Given the description of an element on the screen output the (x, y) to click on. 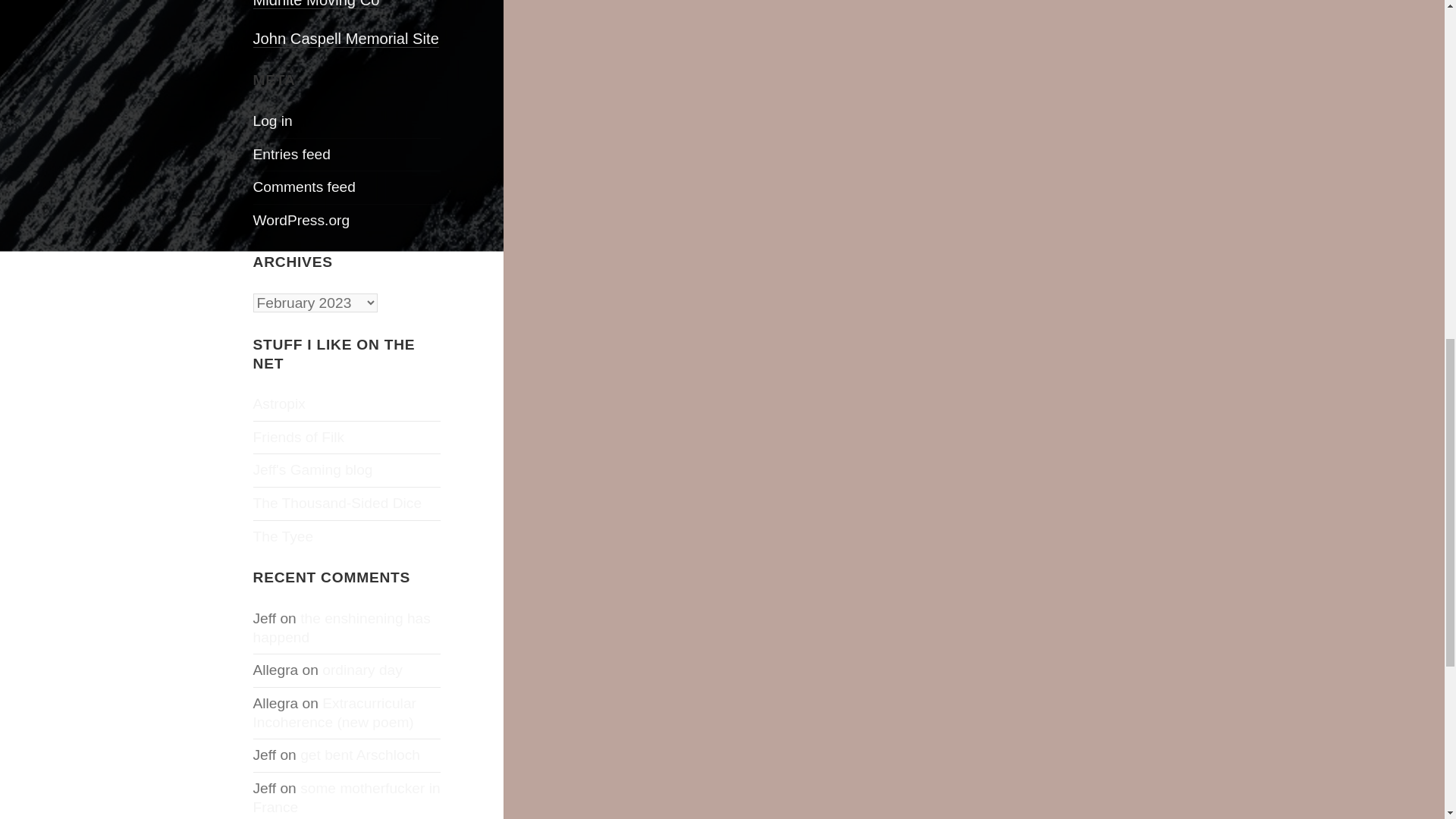
Midnite Moving Co (316, 4)
Friends of Filk (298, 437)
The Tyee (283, 536)
Comments feed (304, 186)
get bent Arschloch (359, 754)
John Caspell Memorial Site (346, 39)
Filk site (298, 437)
ordinary day (362, 669)
the enshinening has happend (341, 627)
Astropix (279, 403)
